Given the description of an element on the screen output the (x, y) to click on. 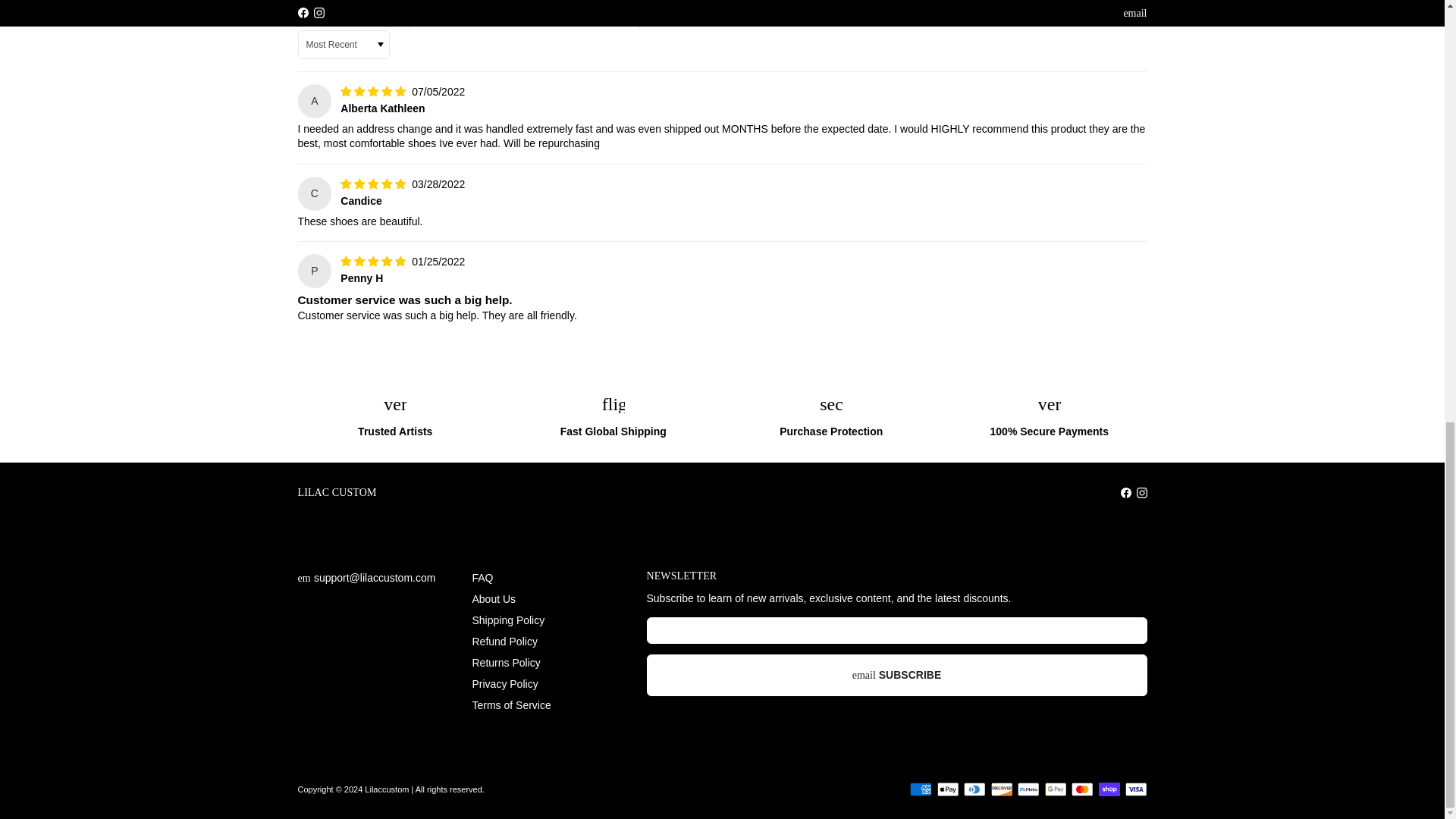
Discover (1000, 789)
Google Pay (1056, 789)
Apple Pay (948, 789)
Diners Club (974, 789)
American Express (920, 789)
Visa (1136, 789)
Shop Pay (1108, 789)
Meta Pay (1028, 789)
Mastercard (1082, 789)
